Given the description of an element on the screen output the (x, y) to click on. 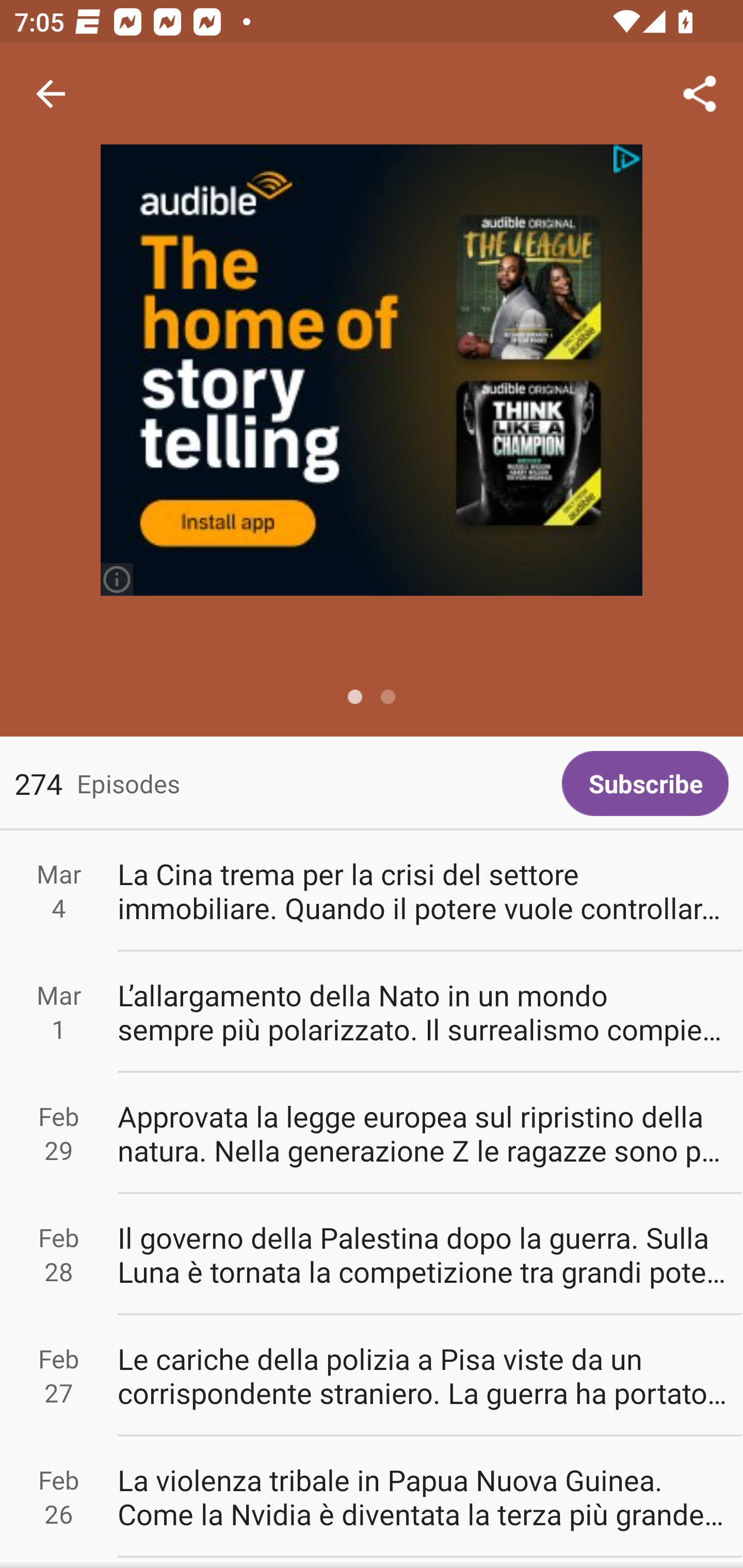
Navigate up (50, 93)
Share... (699, 93)
lle9m6dk_dojo1qh_onfbzh639xj3lele (371, 369)
privacy (627, 159)
Subscribe (644, 783)
